Given the description of an element on the screen output the (x, y) to click on. 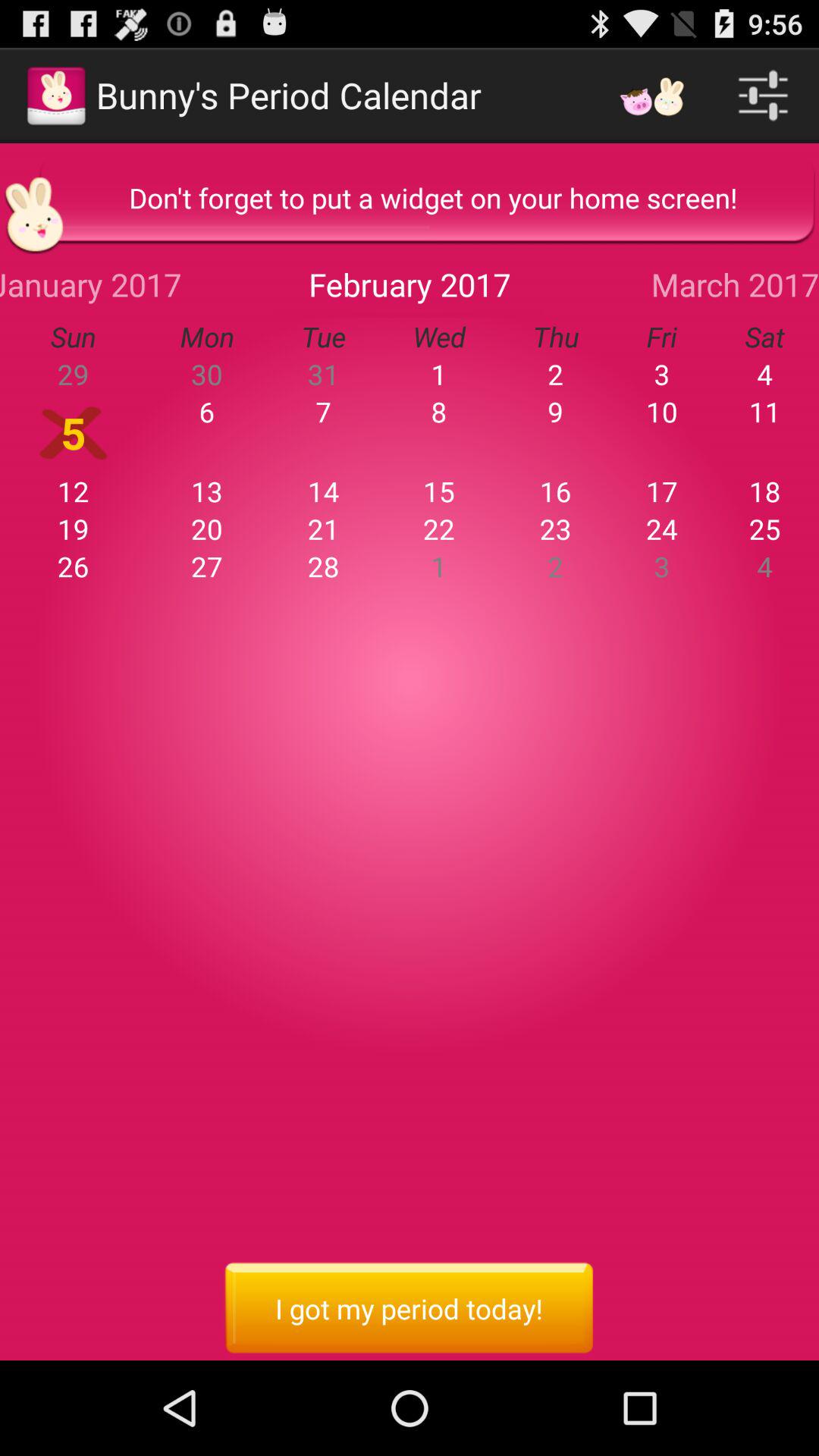
turn on item above the 2 (661, 528)
